Given the description of an element on the screen output the (x, y) to click on. 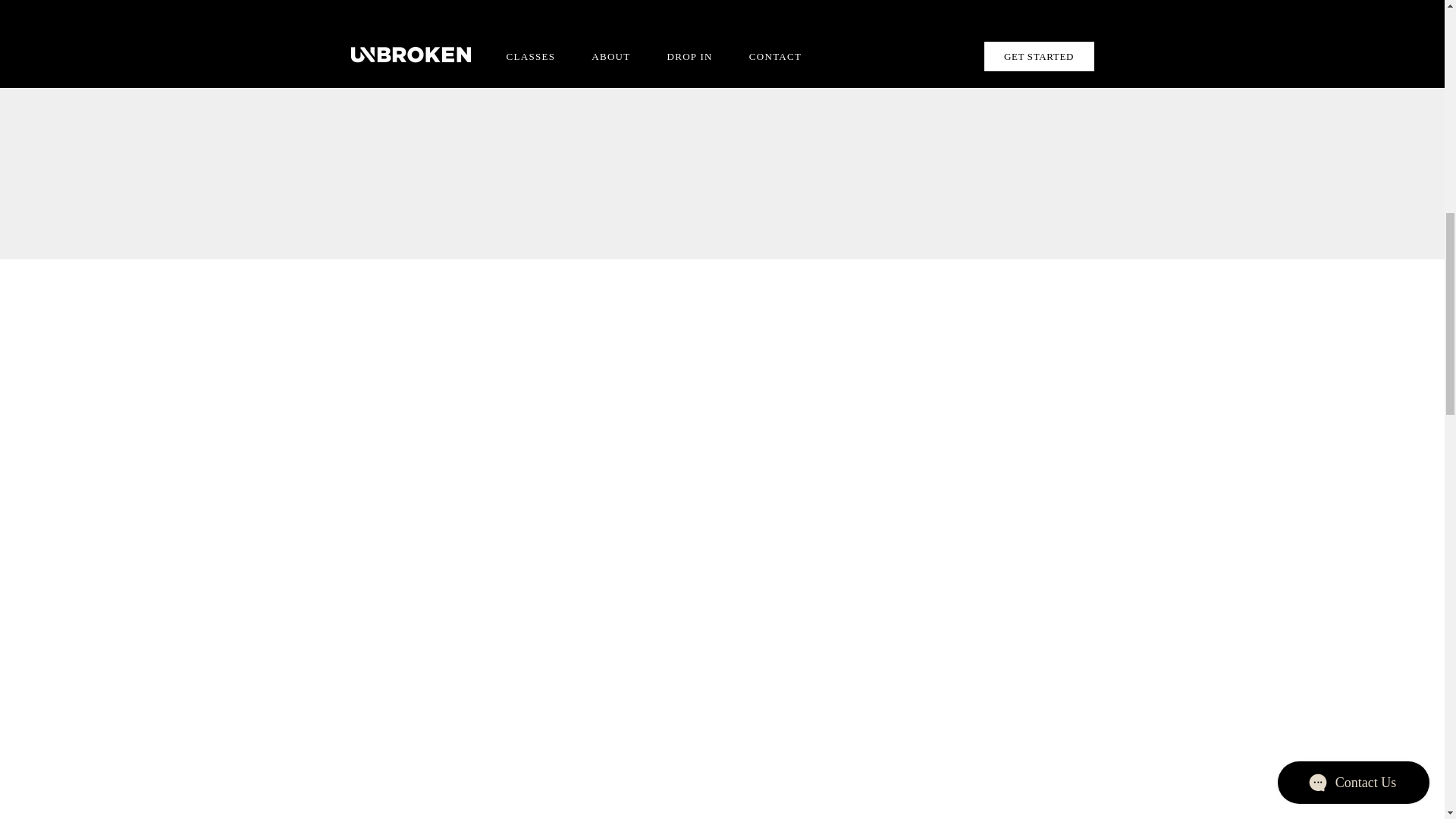
Google Maps (532, 113)
